Given the description of an element on the screen output the (x, y) to click on. 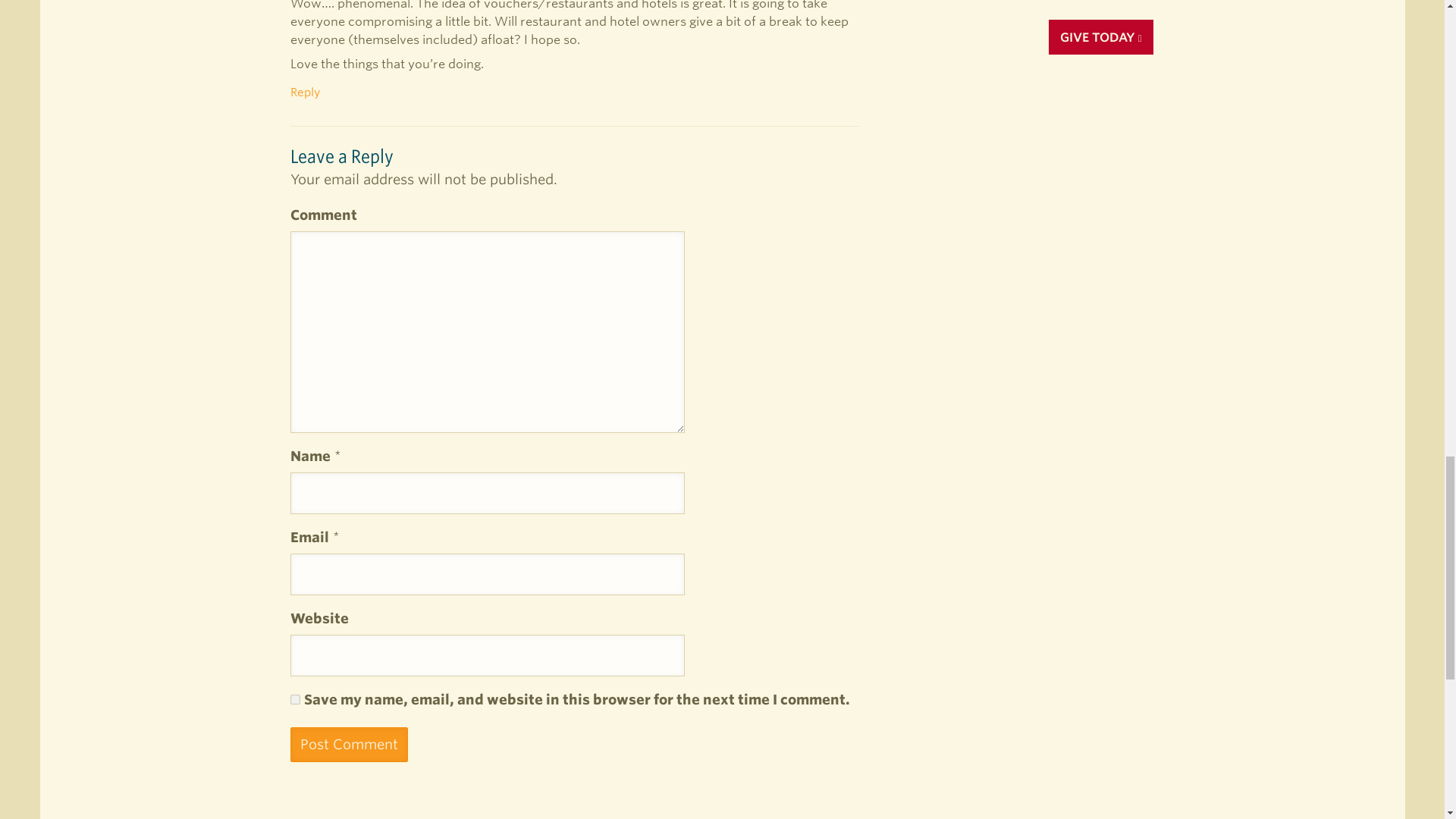
yes (294, 699)
Post Comment (348, 744)
